Given the description of an element on the screen output the (x, y) to click on. 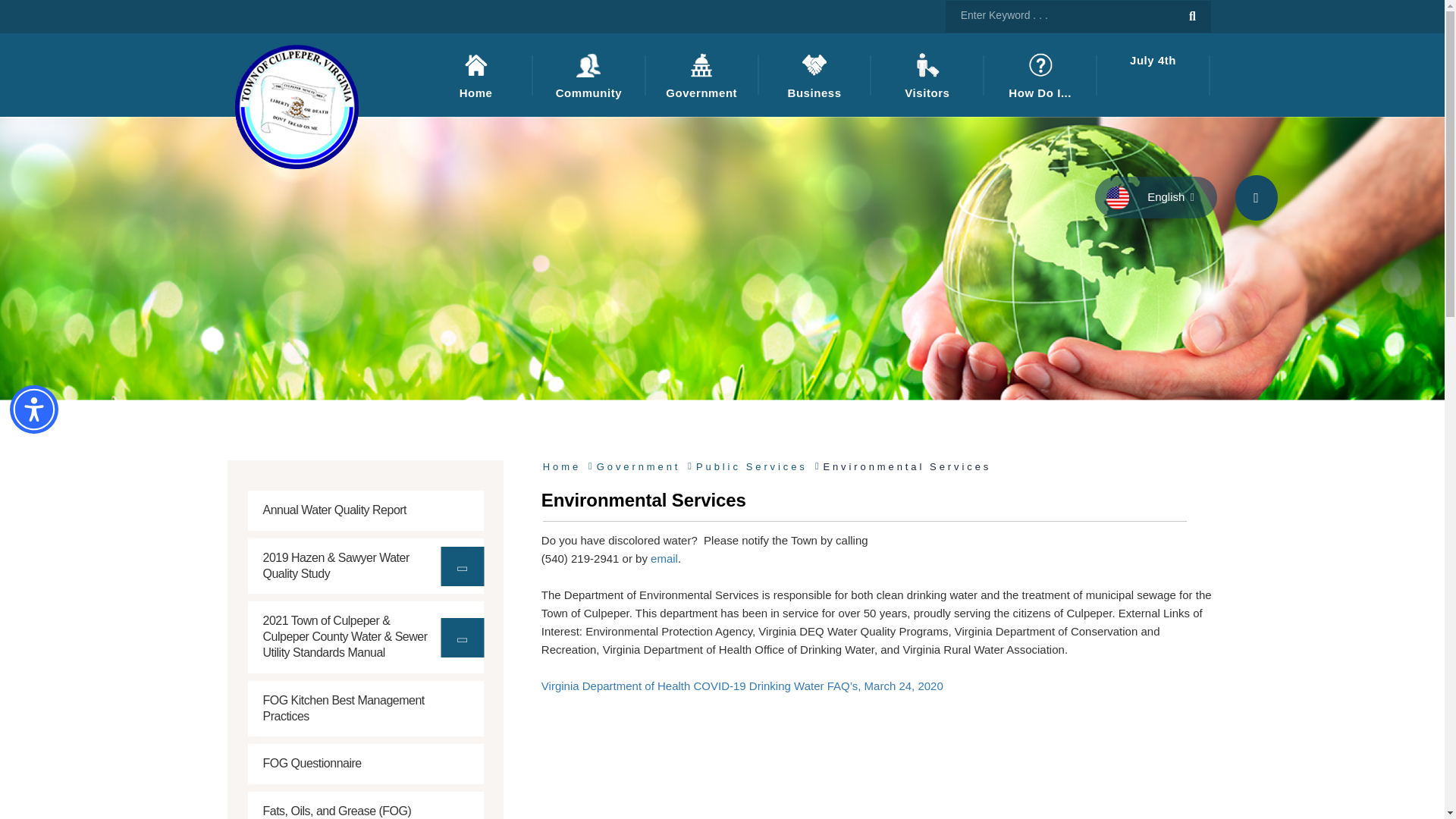
Town of Culpeper, VA (296, 105)
Community (588, 75)
Home (475, 75)
Accessibility Menu (34, 409)
Search (1192, 16)
